Given the description of an element on the screen output the (x, y) to click on. 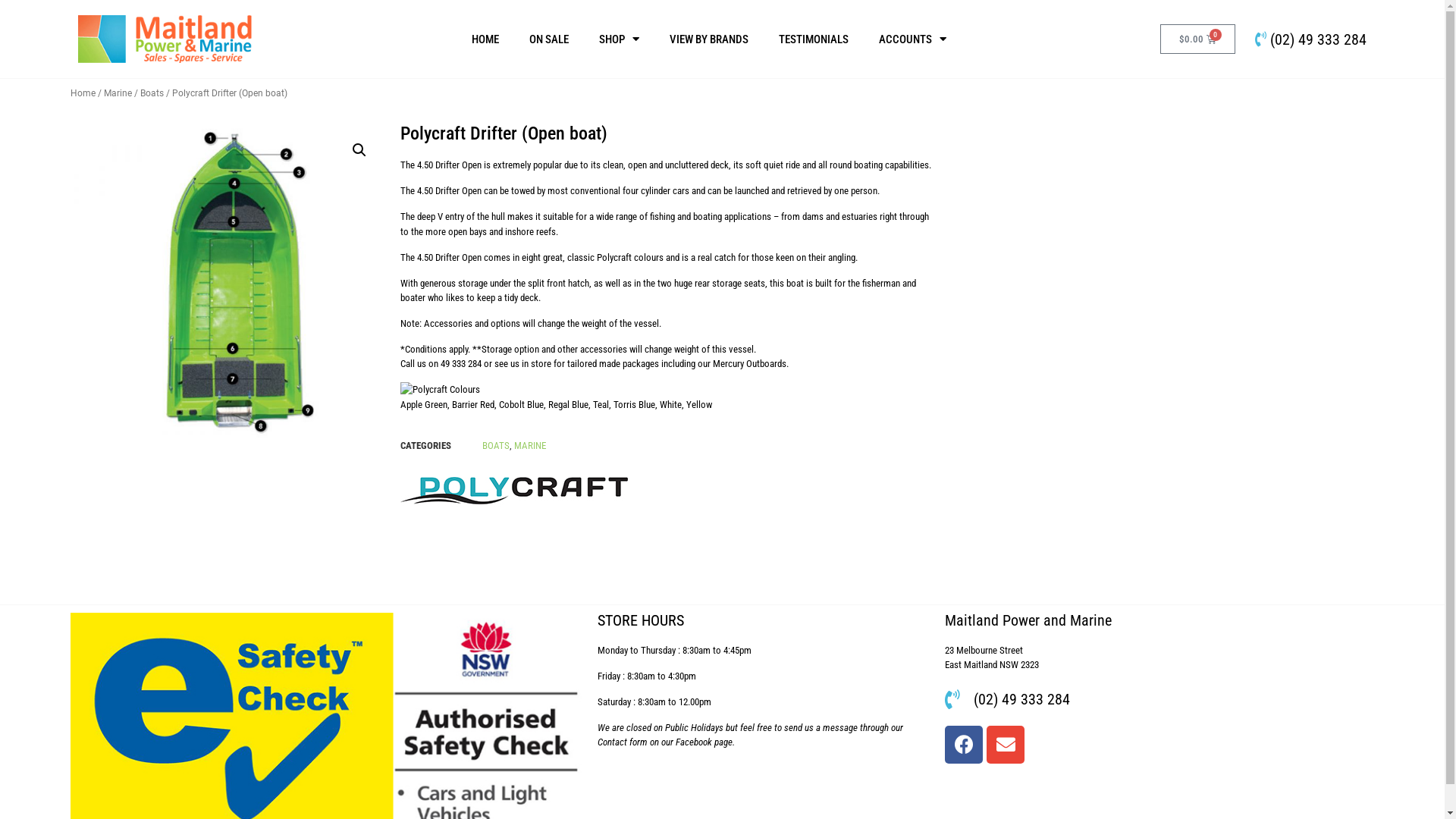
MARINE Element type: text (530, 445)
ACCOUNTS Element type: text (912, 38)
TESTIMONIALS Element type: text (813, 38)
Polycraft-Drifter Element type: hover (226, 281)
$0.00
0 Element type: text (1197, 38)
Home Element type: text (81, 92)
SHOP Element type: text (618, 38)
HOME Element type: text (485, 38)
BOATS Element type: text (495, 445)
ON SALE Element type: text (548, 38)
Boats Element type: text (151, 92)
Marine Element type: text (117, 92)
VIEW BY BRANDS Element type: text (708, 38)
